Given the description of an element on the screen output the (x, y) to click on. 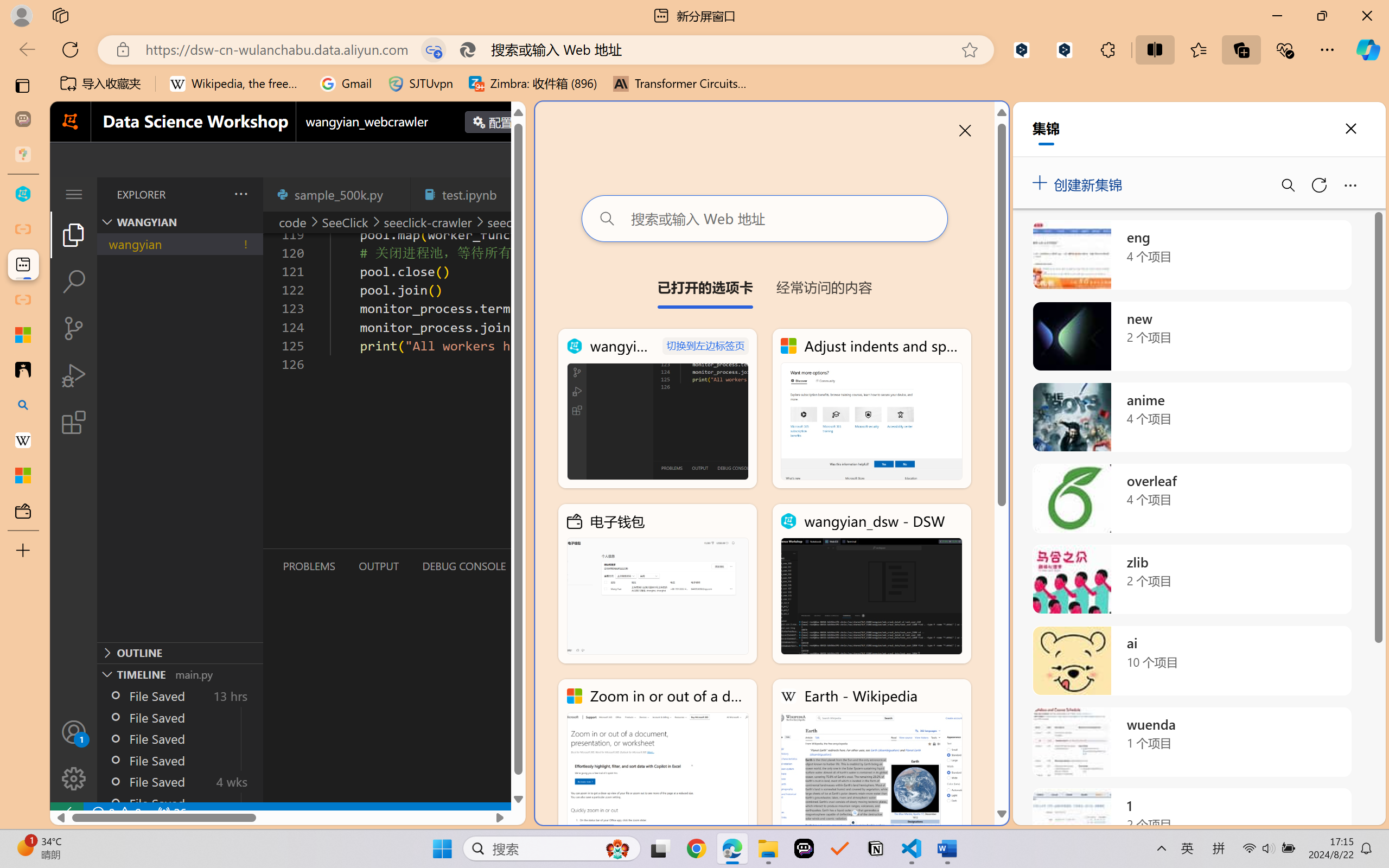
Terminal (Ctrl+`) (553, 565)
Application Menu (73, 194)
Extensions (Ctrl+Shift+X) (73, 422)
